Given the description of an element on the screen output the (x, y) to click on. 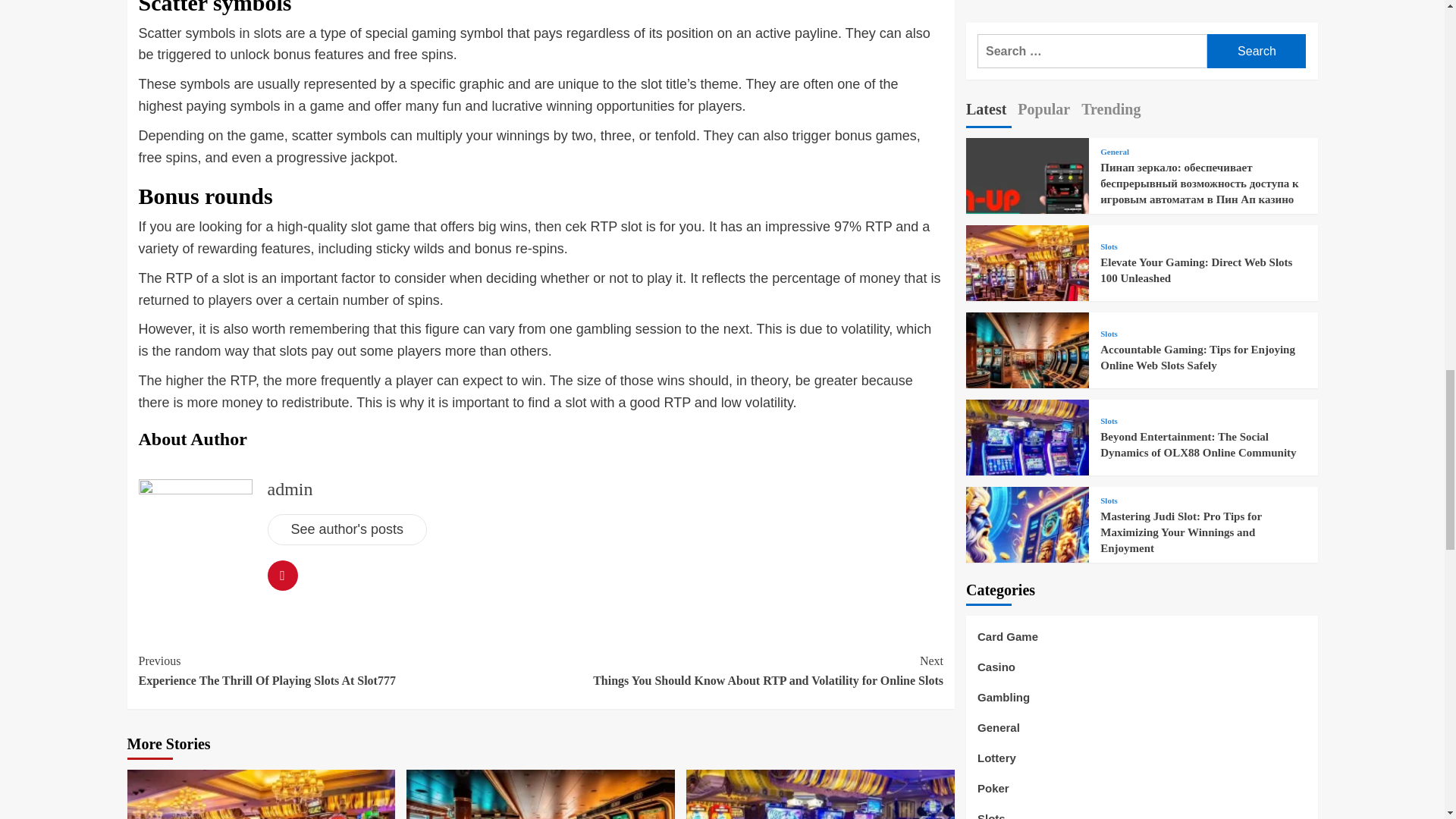
admin (339, 670)
See author's posts (289, 488)
